Given the description of an element on the screen output the (x, y) to click on. 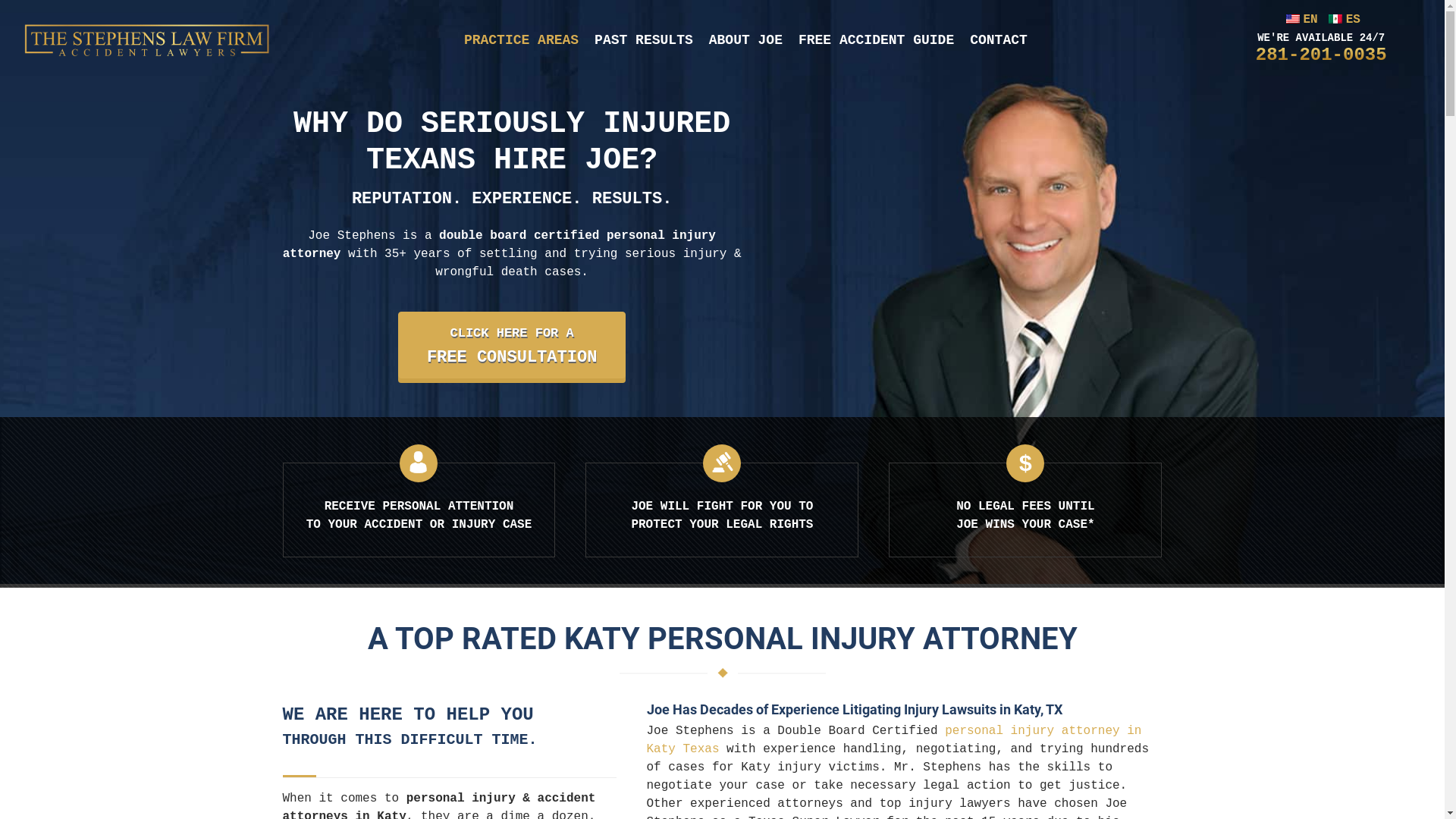
English Element type: hover (1292, 18)
EN Element type: text (1299, 19)
281-201-0035 Element type: text (1320, 54)
PAST RESULTS Element type: text (643, 40)
ES Element type: text (1342, 19)
FREE ACCIDENT GUIDE Element type: text (875, 40)
PRACTICE AREAS Element type: text (521, 40)
CONTACT Element type: text (998, 40)
CLICK HERE FOR A
FREE CONSULTATION Element type: text (511, 344)
ABOUT JOE Element type: text (745, 40)
personal injury attorney in Katy Texas Element type: text (893, 740)
REVIEW MY CASE Element type: text (86, 18)
